Given the description of an element on the screen output the (x, y) to click on. 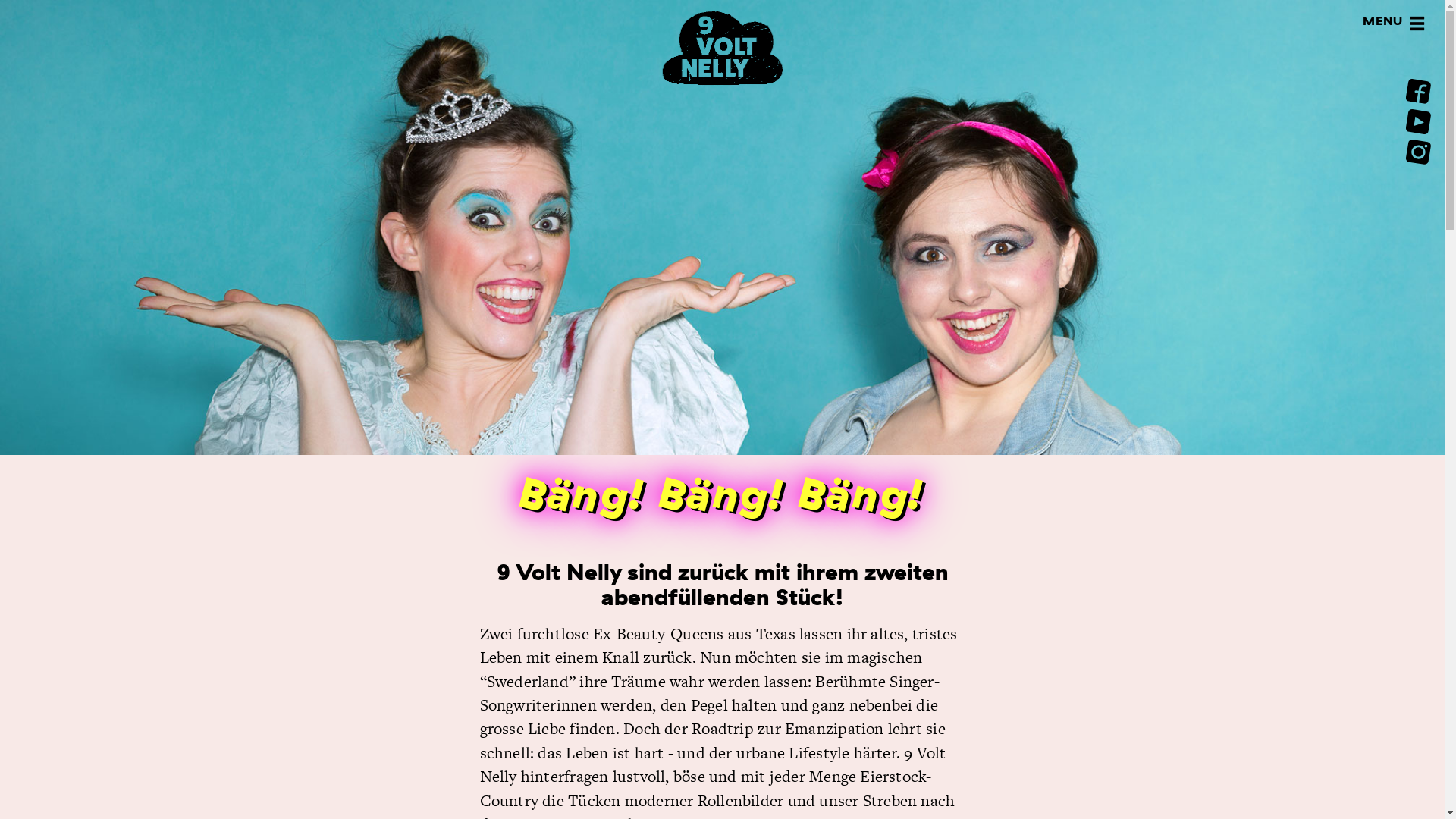
Home Element type: hover (721, 79)
MENU Element type: text (1417, 25)
